Given the description of an element on the screen output the (x, y) to click on. 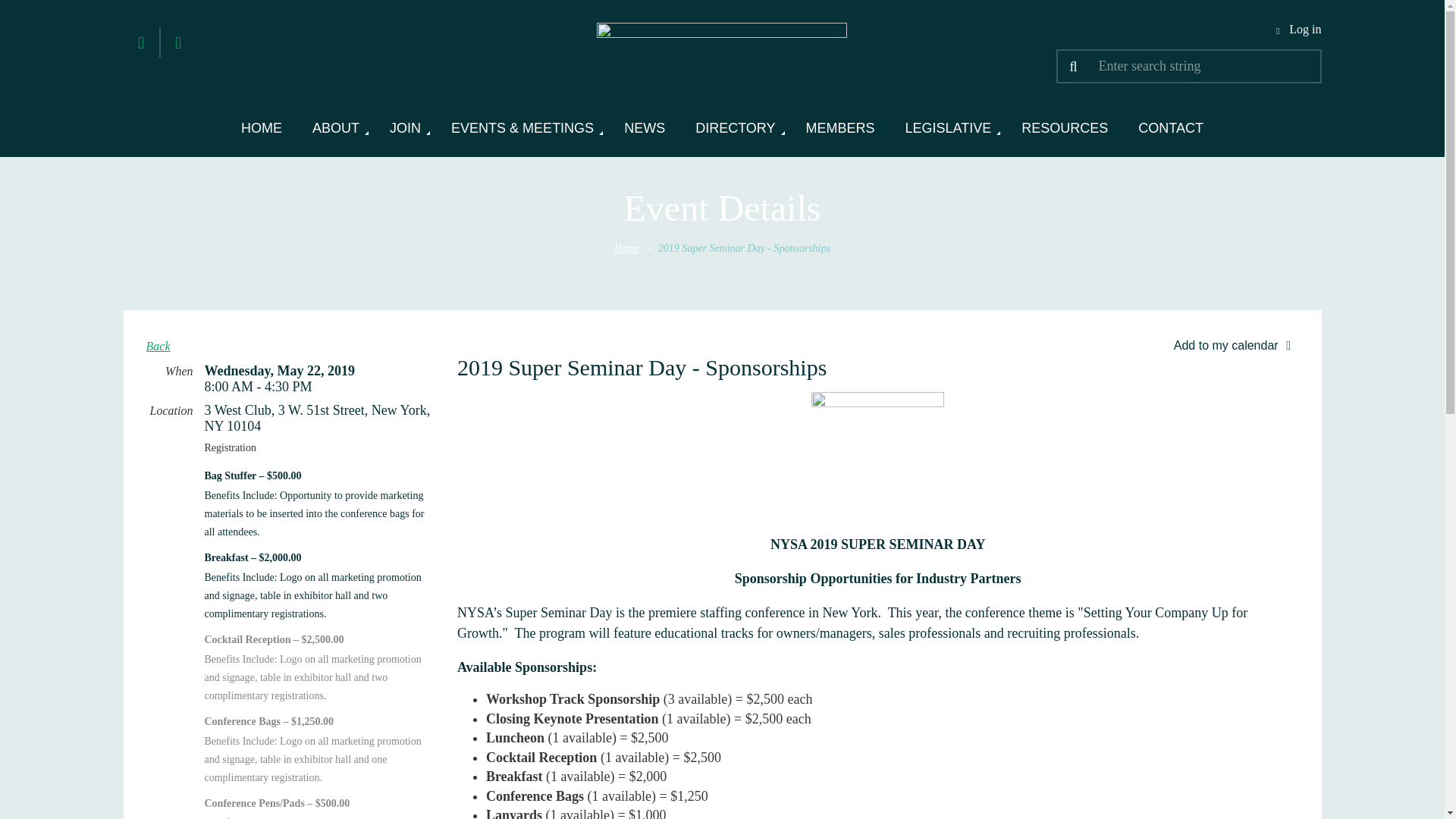
HOME (261, 131)
Log in (1294, 29)
NEWS (643, 131)
ABOUT (335, 131)
JOIN (404, 131)
